Given the description of an element on the screen output the (x, y) to click on. 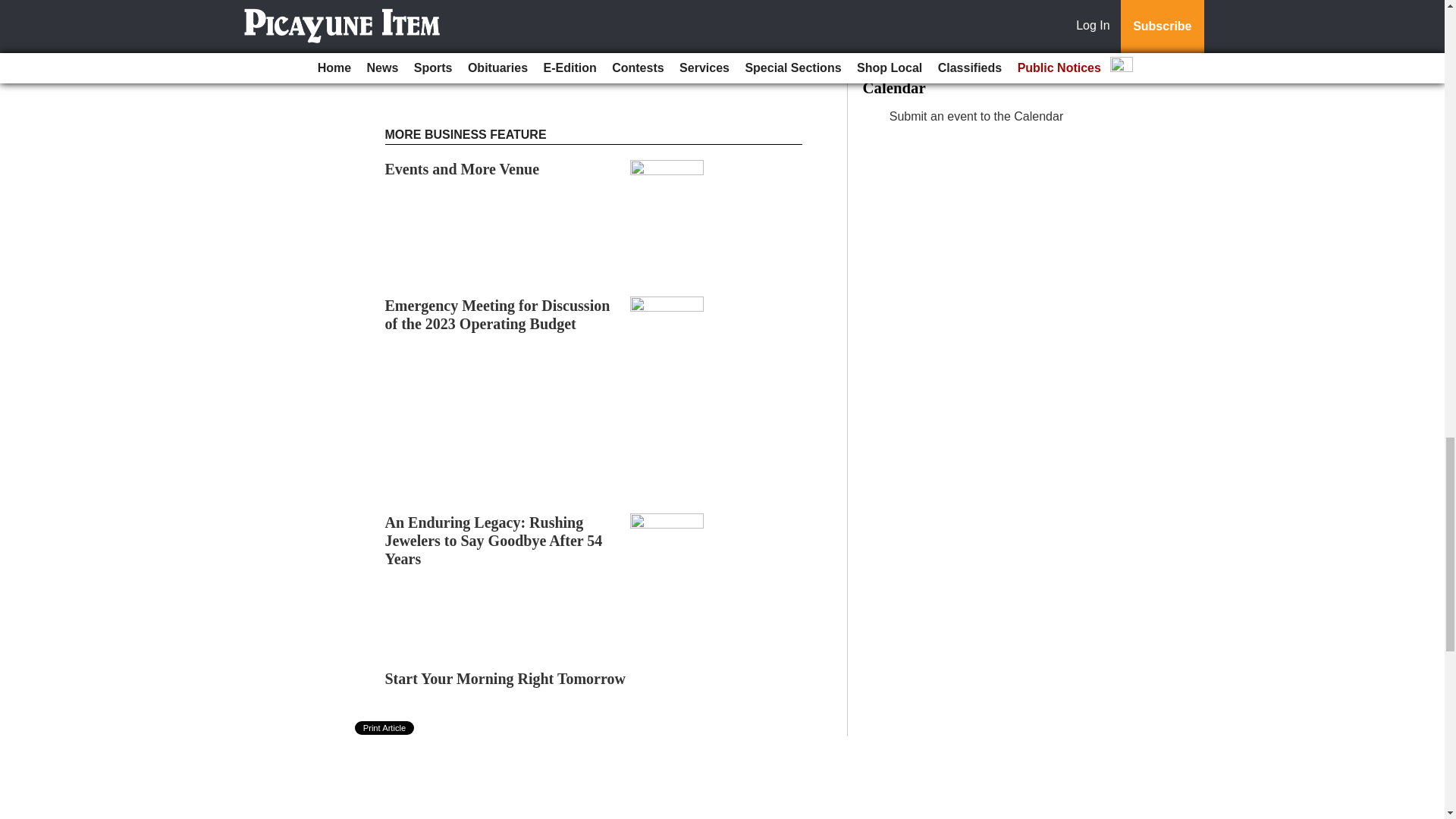
Events and More Venue (462, 168)
Start Your Morning Right Tomorrow (505, 678)
Start Your Morning Right Tomorrow (505, 678)
Events and More Venue (462, 168)
Print Article (384, 727)
